Given the description of an element on the screen output the (x, y) to click on. 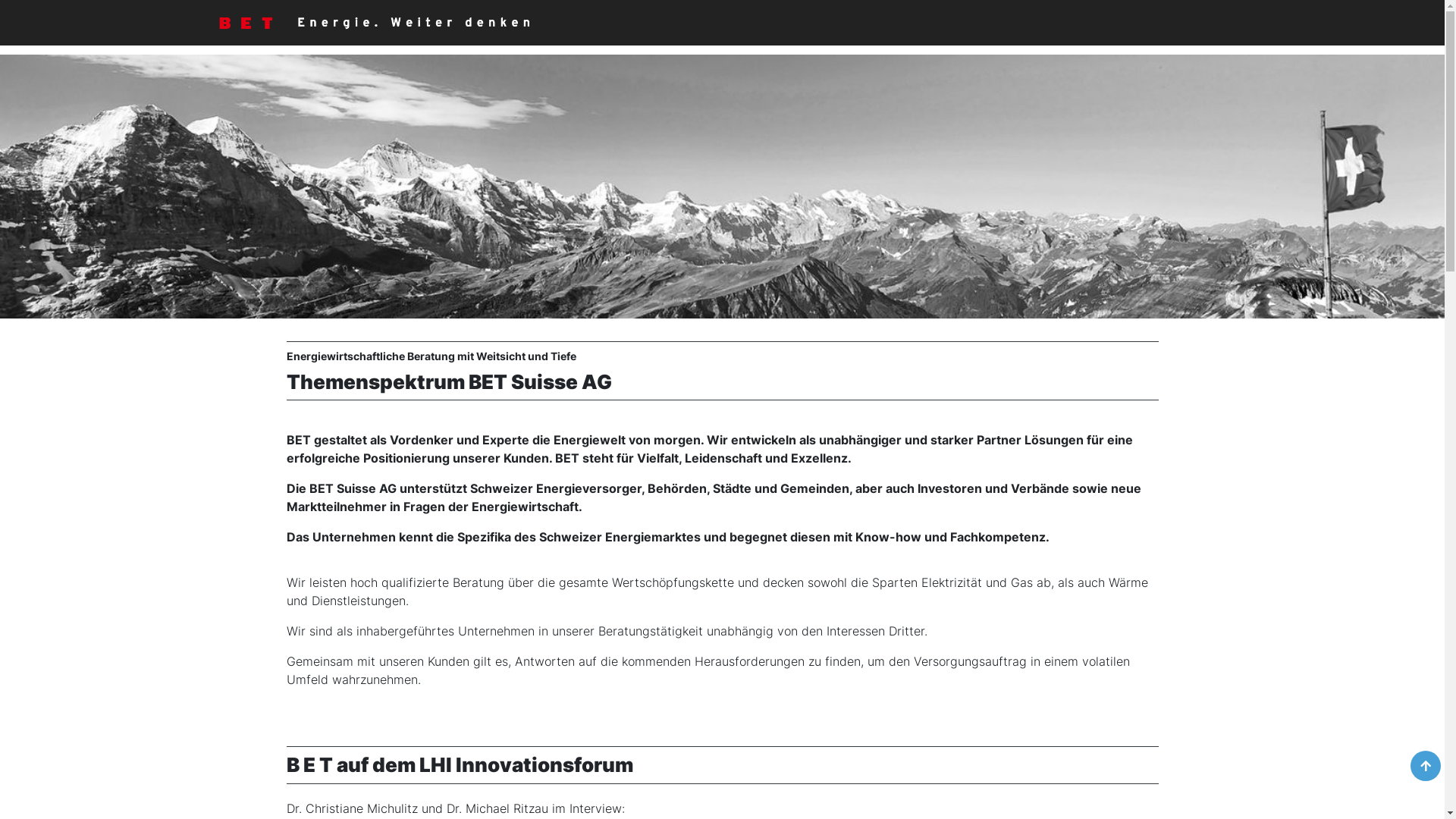
Zum Seitenanfang springen Element type: hover (1425, 765)
BET Energie Schweiz Element type: hover (372, 22)
